Given the description of an element on the screen output the (x, y) to click on. 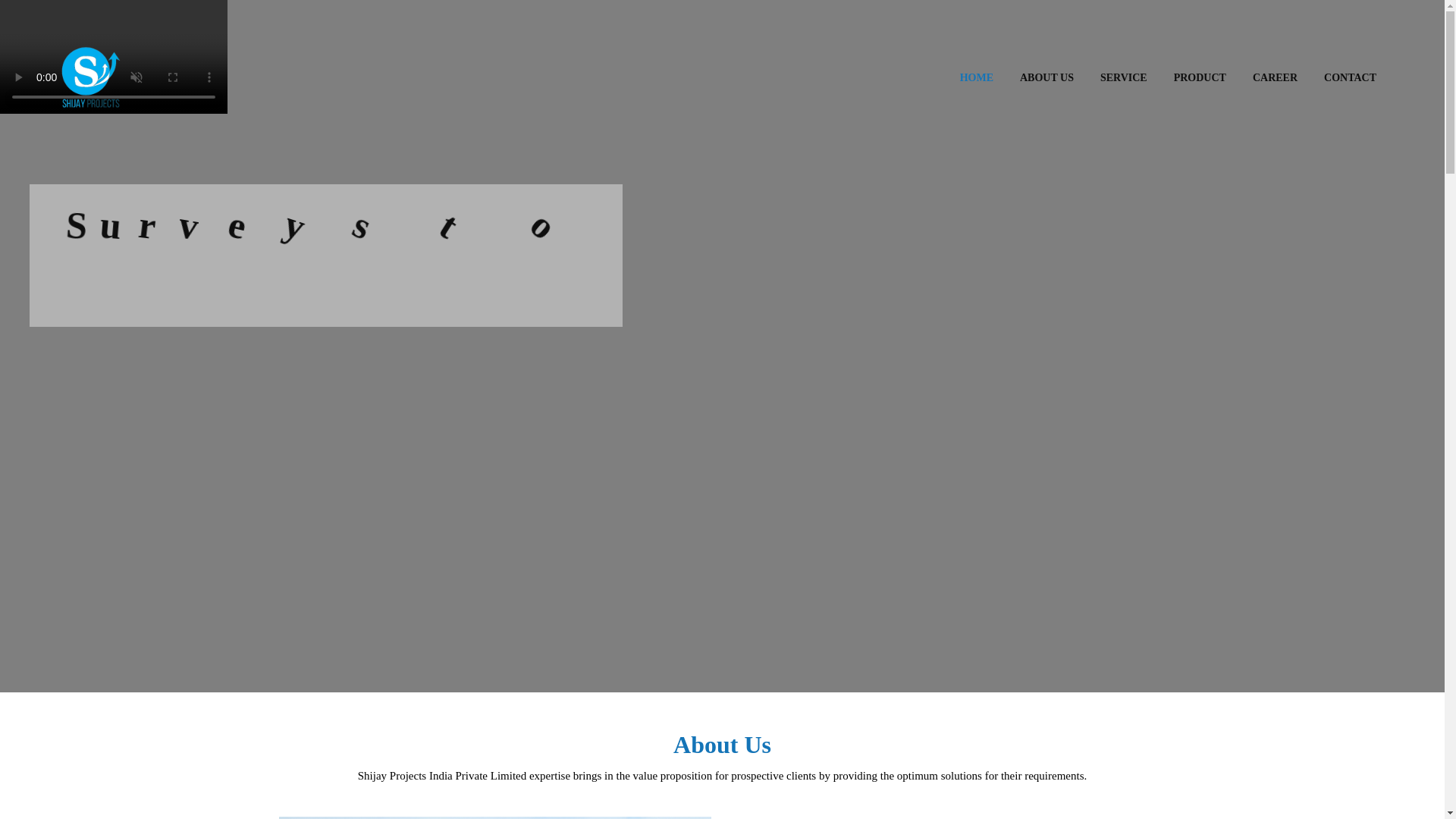
ABOUT US (1047, 77)
CAREER (1274, 77)
CONTACT (1349, 77)
HOME (975, 77)
PRODUCT (1199, 77)
SERVICE (1123, 77)
